Given the description of an element on the screen output the (x, y) to click on. 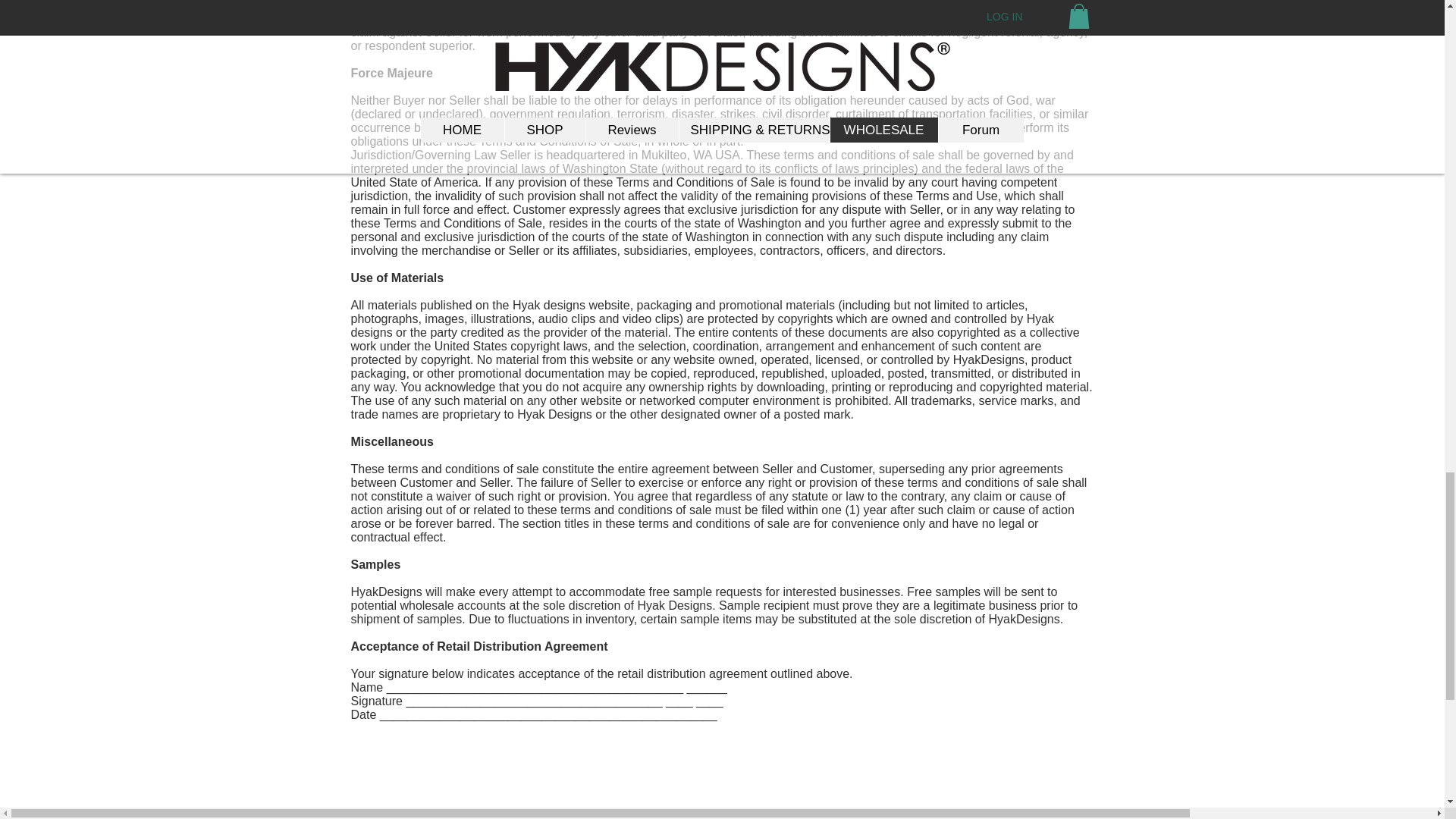
Hyak Designs Wholesale Agreement.pdf (739, 769)
